Given the description of an element on the screen output the (x, y) to click on. 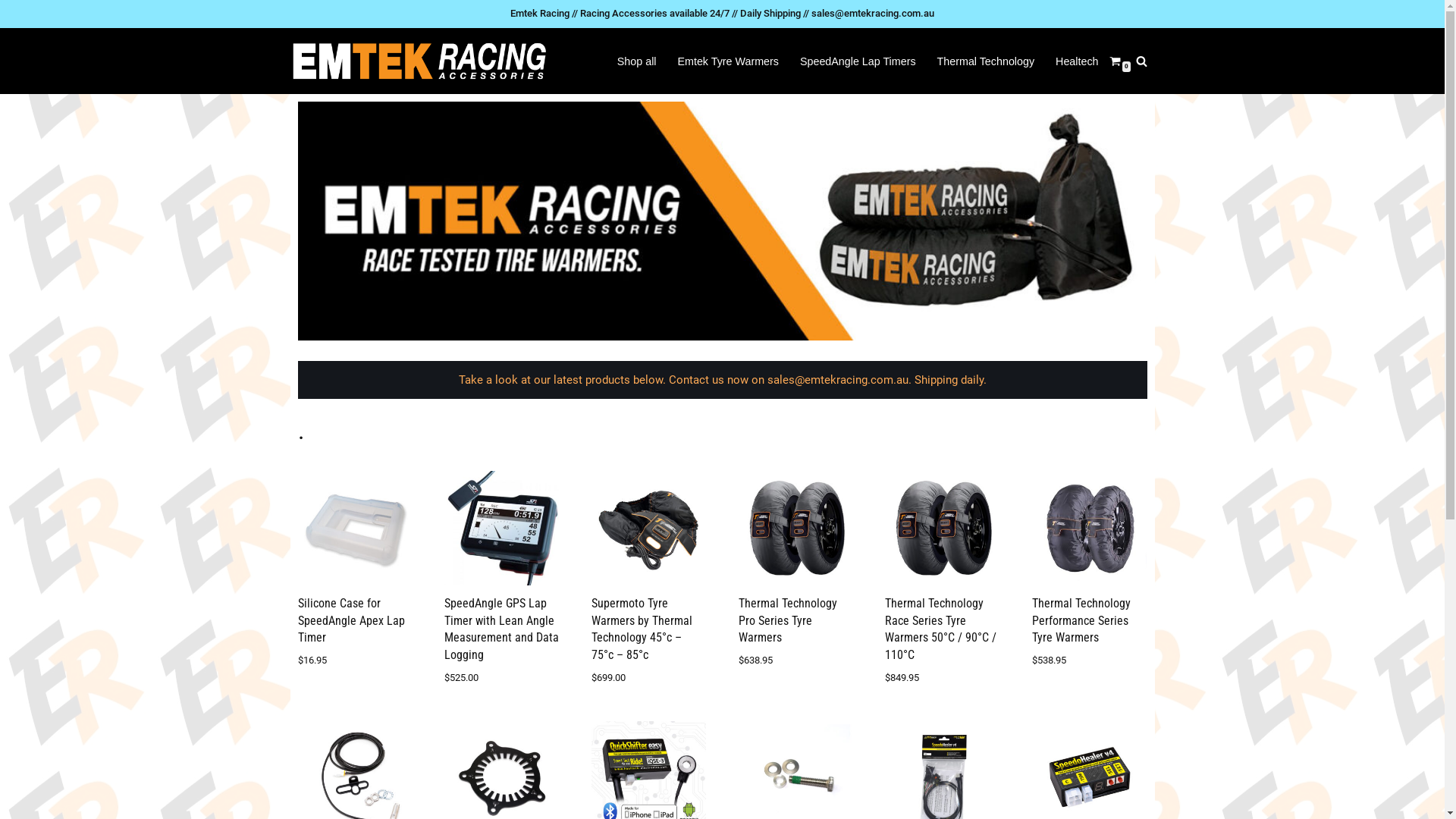
Emtek Tyre Warmers Element type: text (727, 60)
0 Element type: text (1114, 60)
Thermal Technology Performance Series Tyre Warmers
$538.95 Element type: text (1089, 569)
SpeedAngle Lap Timers Element type: text (858, 60)
Shop all Element type: text (636, 60)
Silicone Case for SpeedAngle Apex Lap Timer
$16.95 Element type: text (354, 569)
Thermal Technology Pro Series Tyre Warmers
$638.95 Element type: text (795, 569)
Thermal Technology Element type: text (985, 60)
Healtech Element type: text (1076, 60)
Skip to content Element type: text (11, 31)
